Given the description of an element on the screen output the (x, y) to click on. 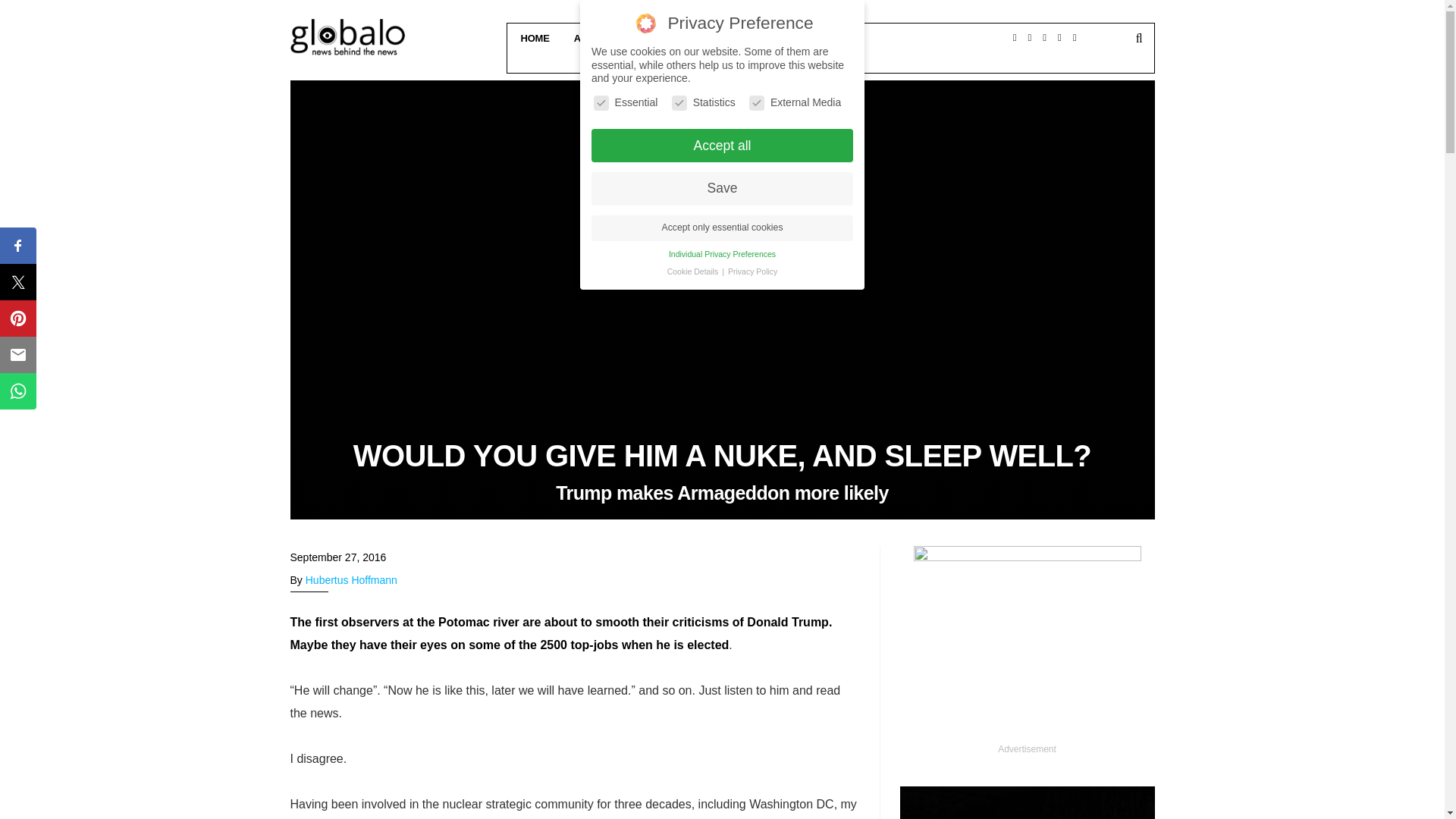
ABOUT US (597, 38)
JOIN (832, 57)
join (832, 33)
Hubertus Hoffmann (351, 580)
CATEGORIES (678, 38)
CONTACT US (765, 38)
HOME (532, 38)
